Given the description of an element on the screen output the (x, y) to click on. 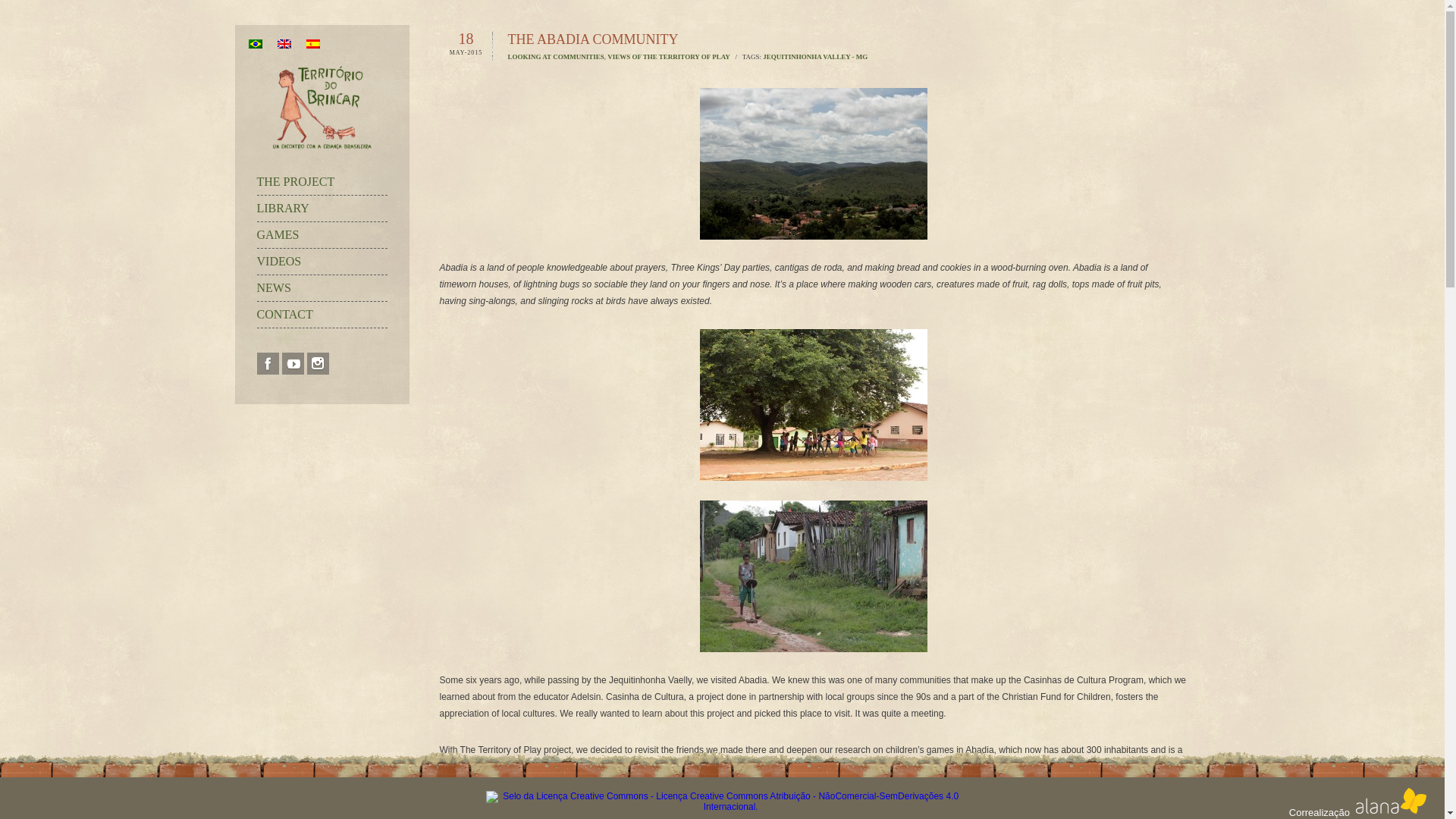
Facebook (267, 363)
GAMES (321, 234)
THE PROJECT (321, 181)
LIBRARY (321, 208)
NEWS (321, 288)
CONTACT (321, 314)
VIDEOS (321, 261)
JEQUITINHONHA VALLEY - MG (814, 56)
VIEWS OF THE TERRITORY OF PLAY (668, 56)
You Tube (293, 363)
English (284, 43)
LOOKING AT COMMUNITIES (556, 56)
Instagram (317, 363)
